Given the description of an element on the screen output the (x, y) to click on. 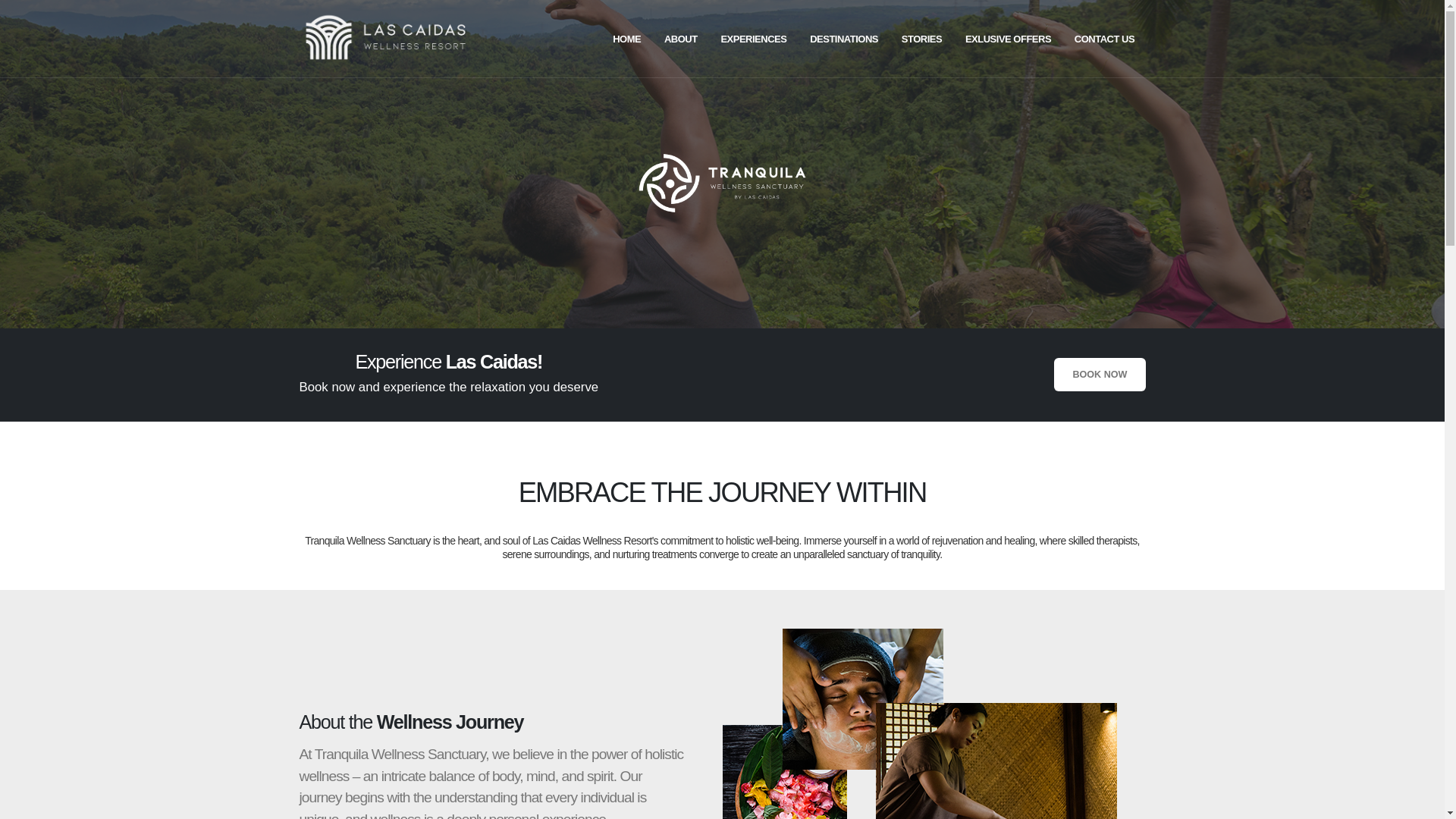
DESTINATIONS (844, 38)
CONTACT US (1103, 38)
EXLUSIVE OFFERS (1008, 38)
BOOK NOW (1099, 374)
EXPERIENCES (753, 38)
